Given the description of an element on the screen output the (x, y) to click on. 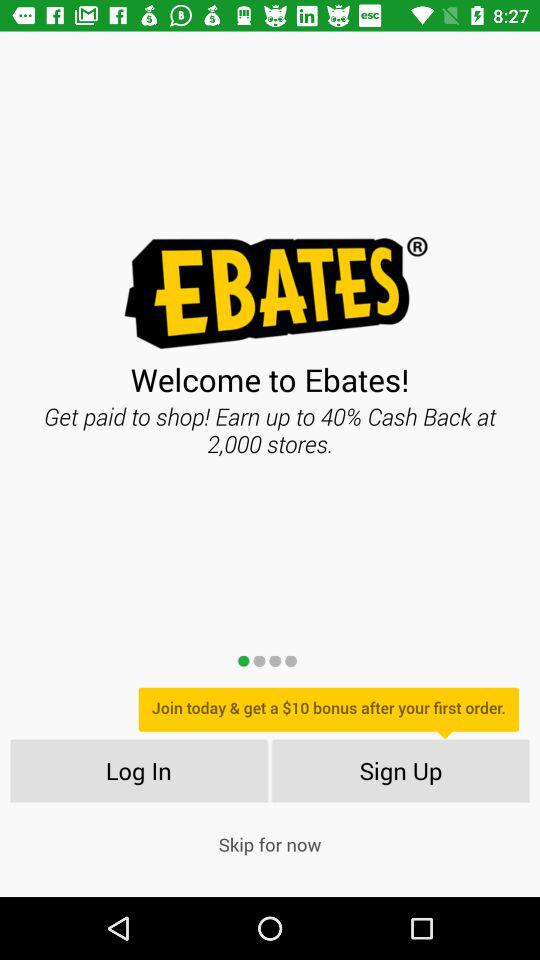
open item next to log in (400, 770)
